Given the description of an element on the screen output the (x, y) to click on. 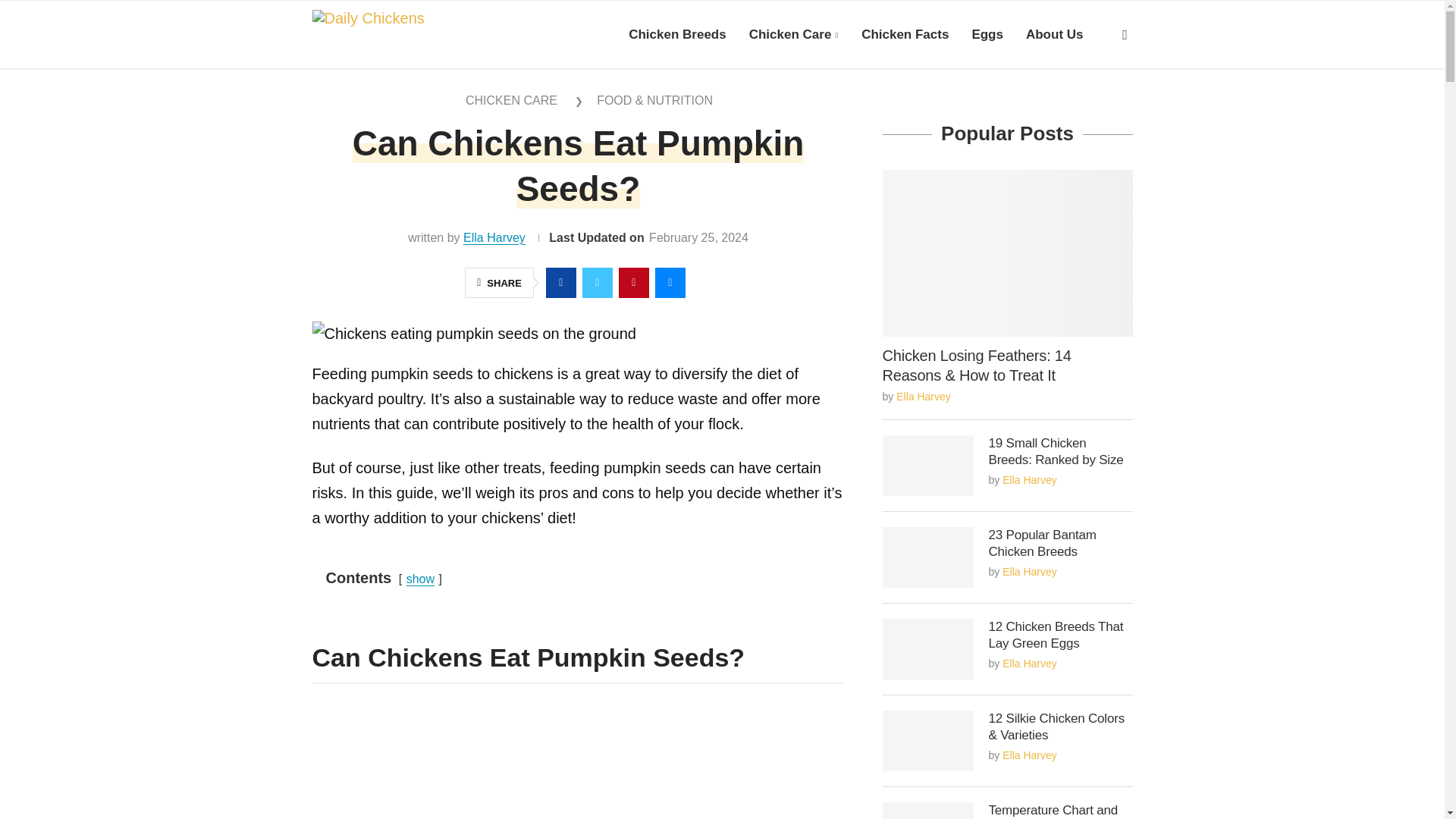
12 Chicken Breeds That Lay Green Eggs (928, 649)
Chicken Care (793, 34)
Chicken Facts (905, 34)
19 Small Chicken Breeds: Ranked by Size (1060, 451)
Ella Harvey (494, 237)
19 Small Chicken Breeds: Ranked by Size (928, 465)
CHICKEN CARE (511, 100)
show (419, 578)
23 Popular Bantam Chicken Breeds (928, 557)
23 Popular Bantam Chicken Breeds (1060, 543)
Chicken Breeds (677, 34)
12 Chicken Breeds That Lay Green Eggs (1060, 635)
